Given the description of an element on the screen output the (x, y) to click on. 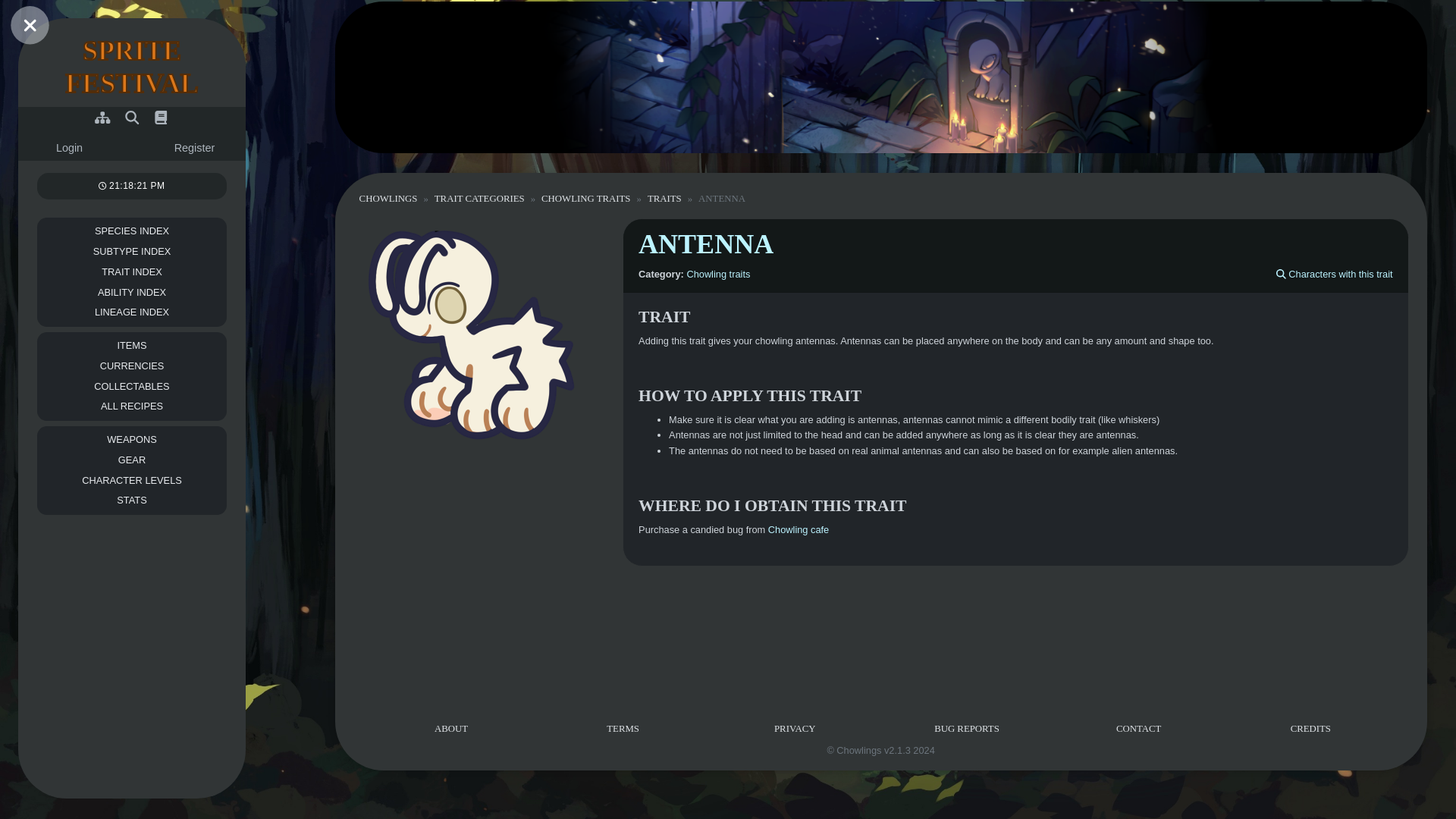
Current Page (131, 67)
SUBTYPE INDEX (102, 118)
Login (131, 251)
Help (69, 148)
COLLECTABLES (161, 118)
CHARACTER LEVELS (131, 385)
Browse (131, 480)
ABILITY INDEX (132, 118)
BROWSE (131, 291)
ALL RECIPES (132, 118)
GEAR (131, 406)
CURRENT (131, 460)
STATS (102, 118)
ITEMS (131, 500)
